Given the description of an element on the screen output the (x, y) to click on. 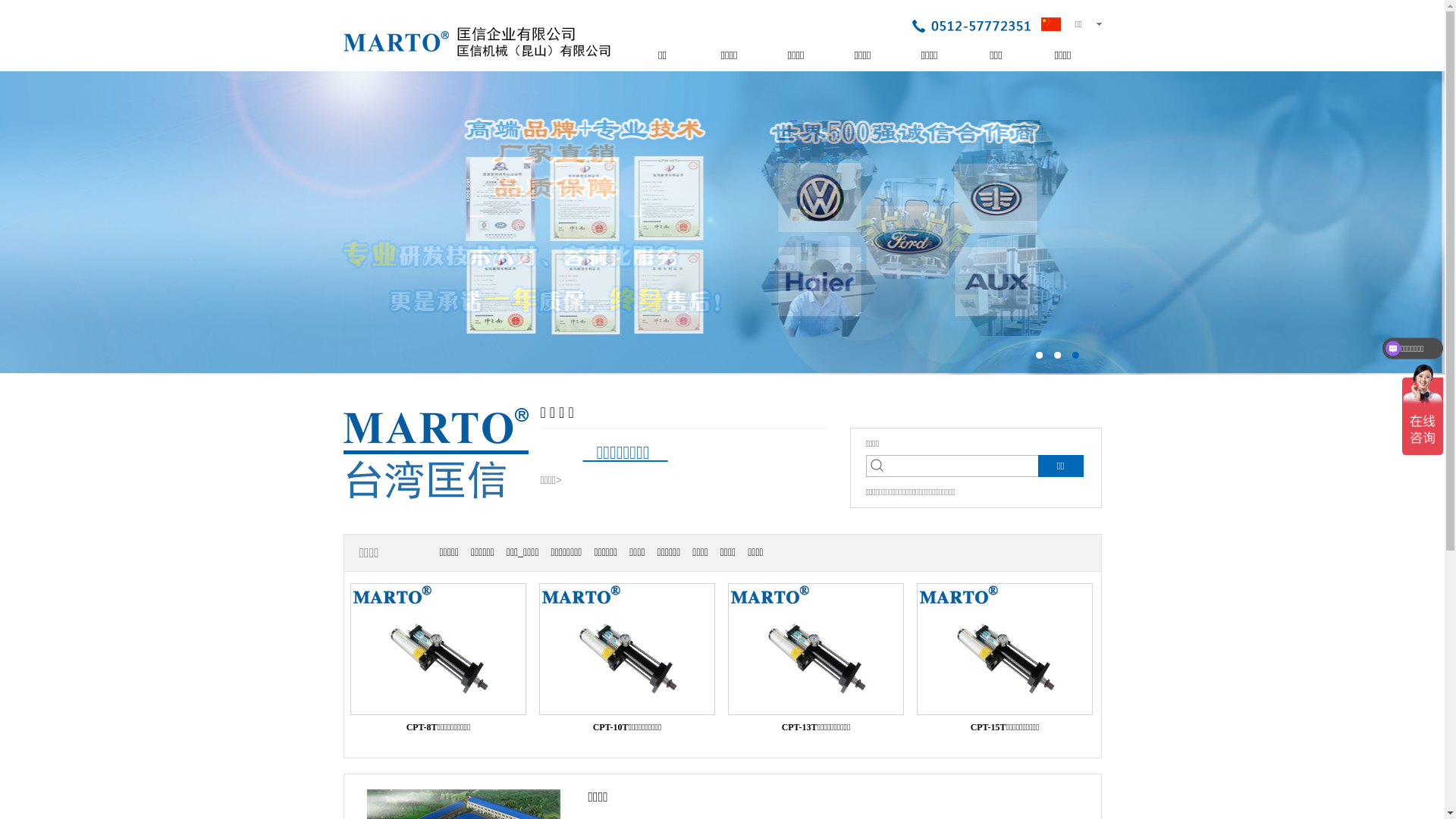
3 Element type: text (1075, 354)
2 Element type: text (1057, 354)
1 Element type: text (1038, 354)
